Given the description of an element on the screen output the (x, y) to click on. 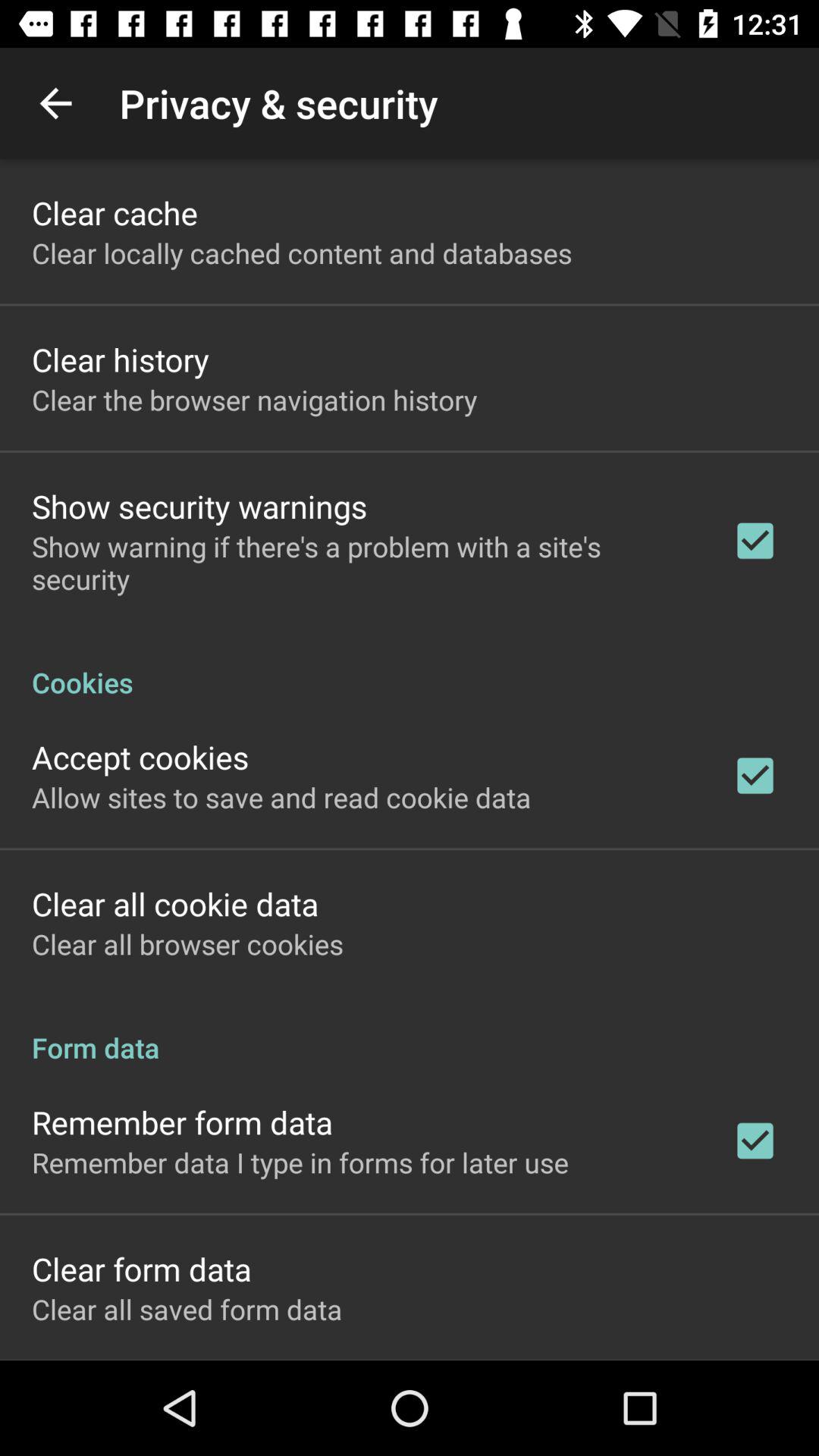
select the app above clear cache item (55, 103)
